Given the description of an element on the screen output the (x, y) to click on. 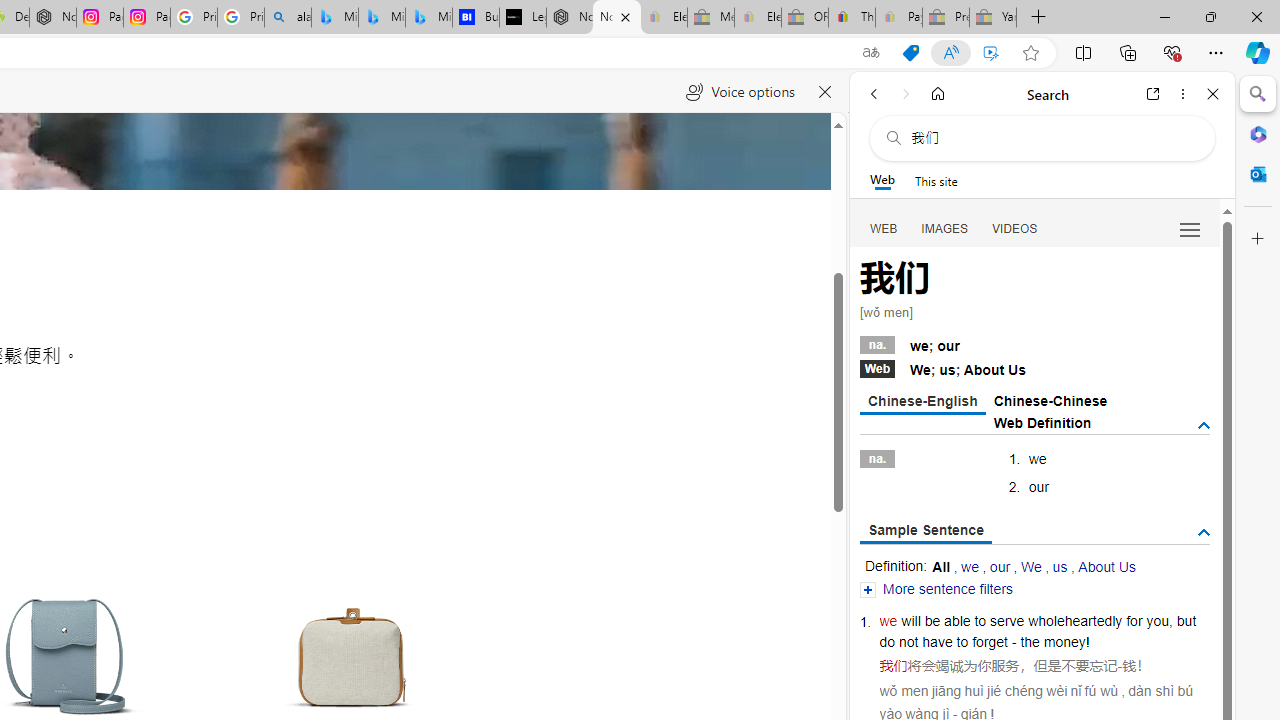
will (911, 620)
Web Definition (1042, 422)
money (1064, 642)
you (1157, 620)
This site has coupons! Shopping in Microsoft Edge (910, 53)
be (932, 620)
alabama high school quarterback dies - Search (288, 17)
our (1000, 566)
